Given the description of an element on the screen output the (x, y) to click on. 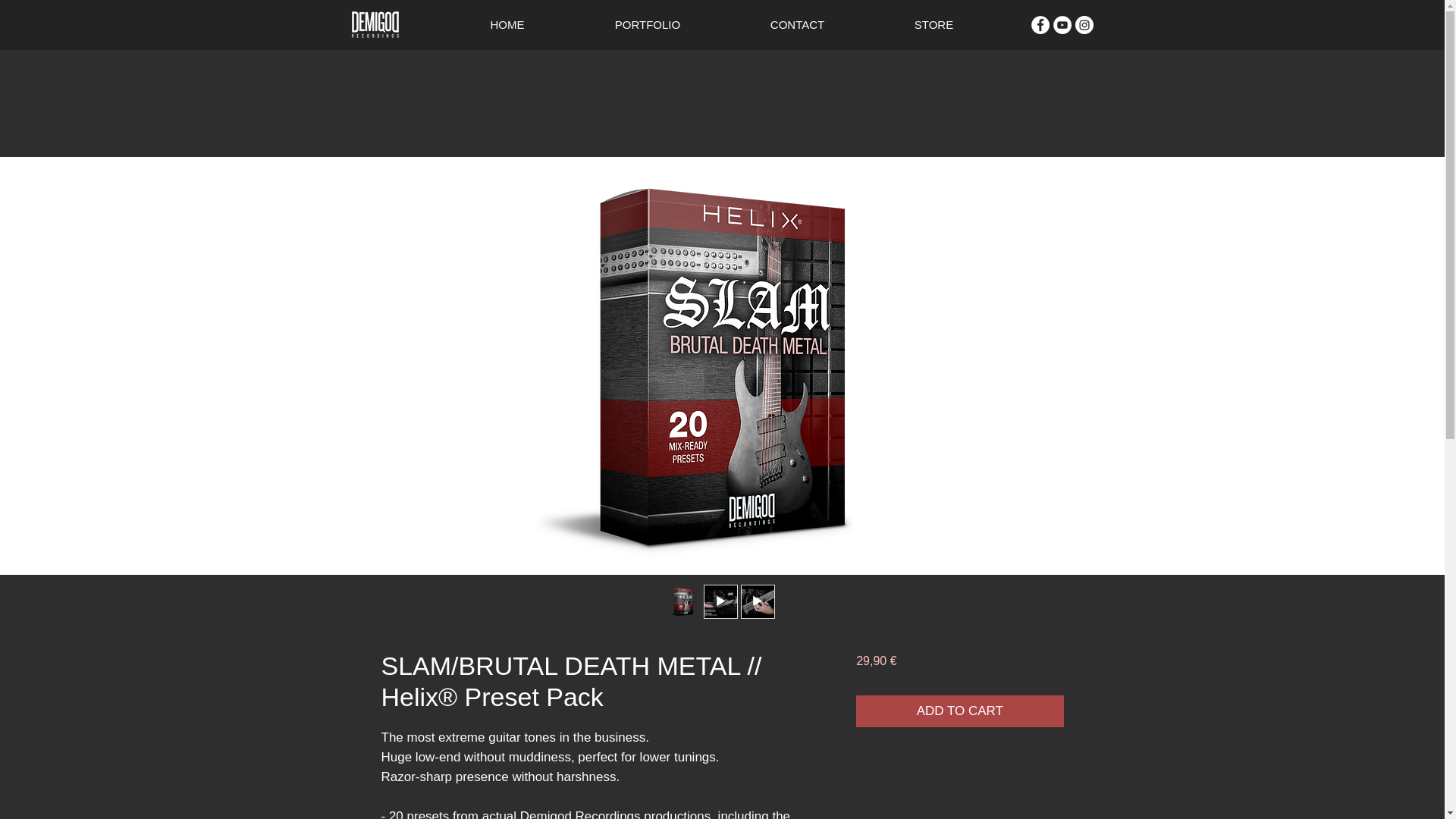
ADD TO CART (959, 711)
STORE (933, 24)
PORTFOLIO (647, 24)
CONTACT (797, 24)
HOME (506, 24)
